Given the description of an element on the screen output the (x, y) to click on. 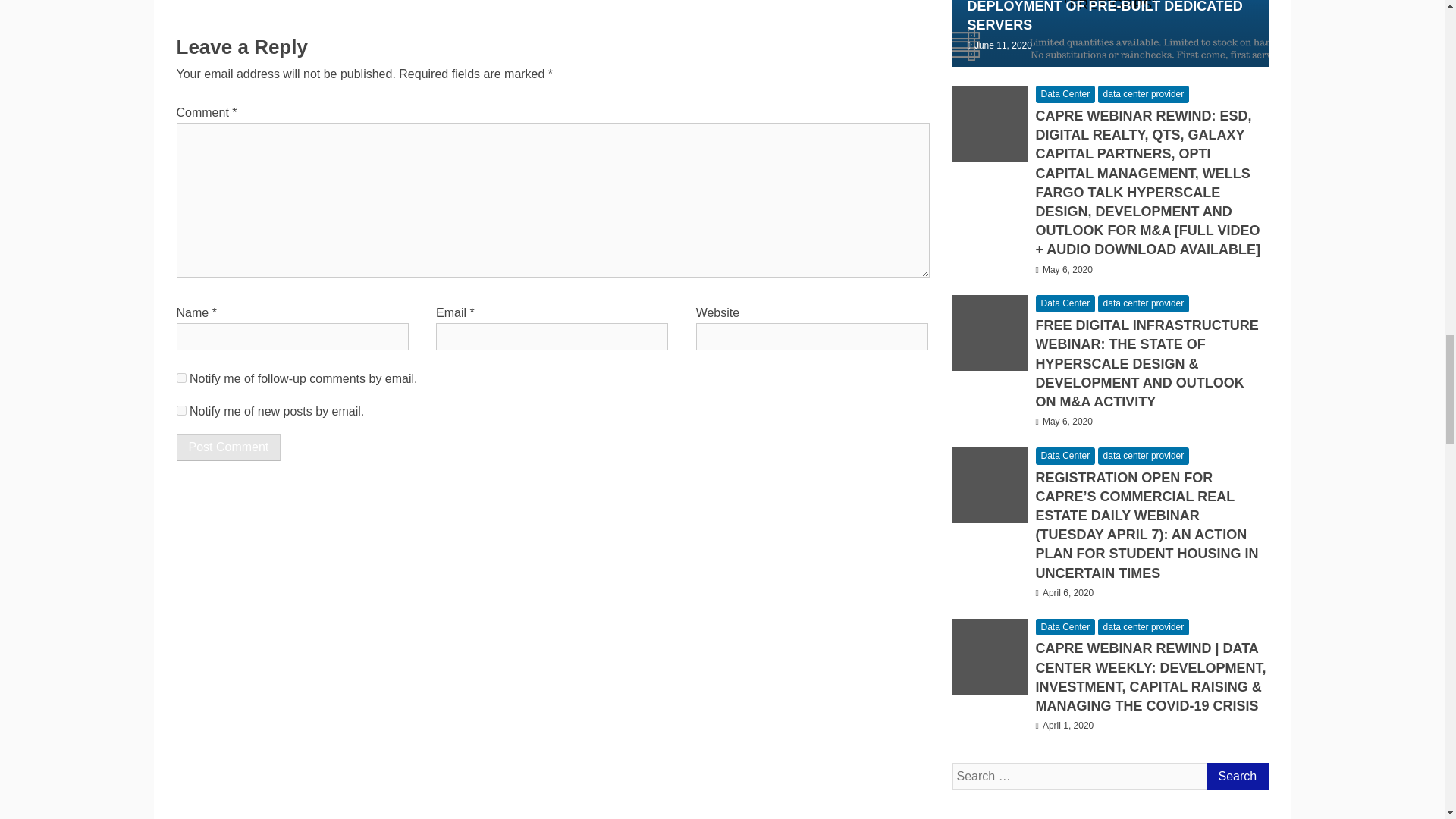
Post Comment (228, 447)
subscribe (181, 378)
Search (1236, 776)
subscribe (181, 410)
Search (1236, 776)
